Given the description of an element on the screen output the (x, y) to click on. 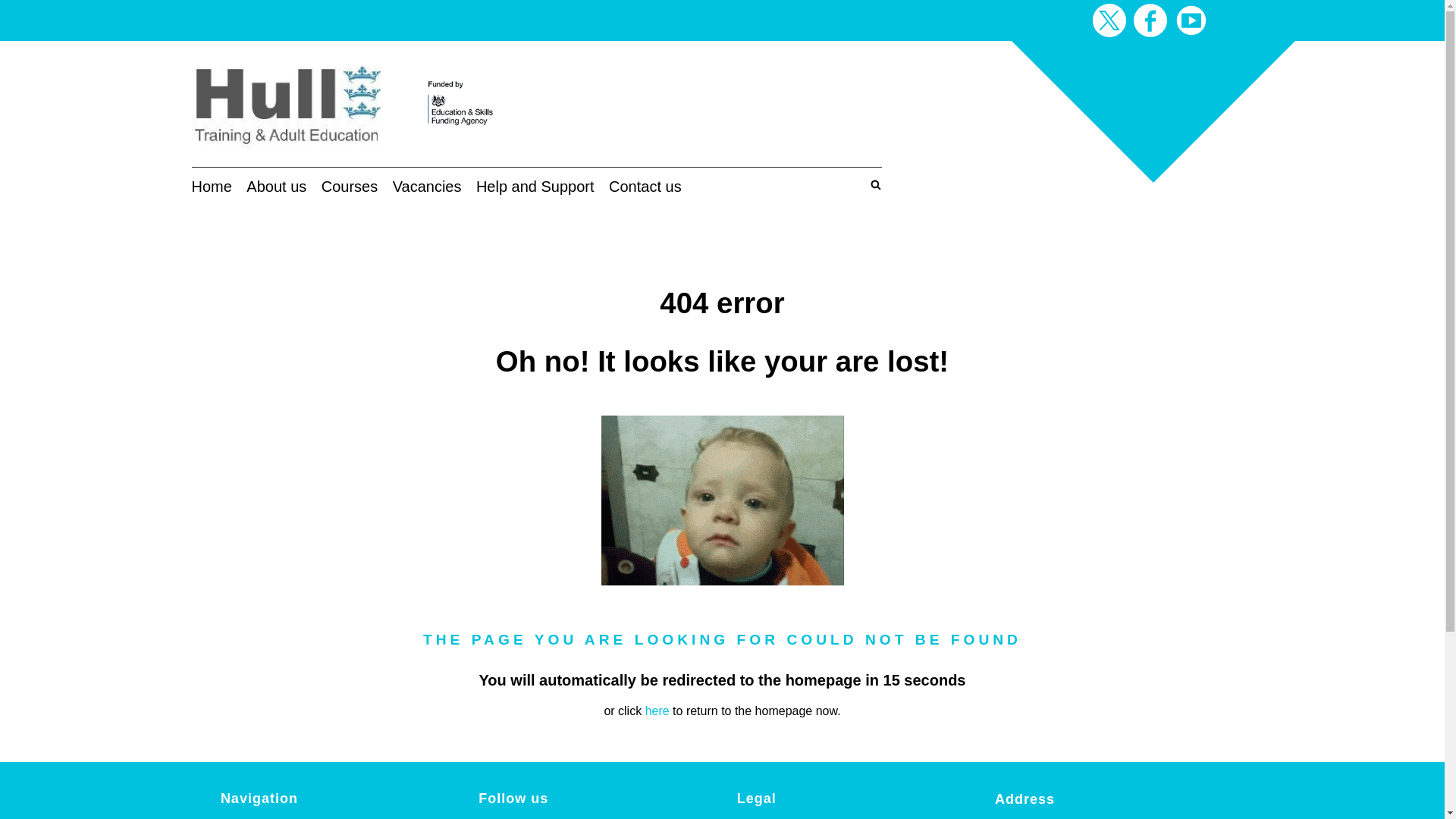
About us (275, 186)
Home (210, 186)
Help and Support (535, 186)
Vacancies (427, 186)
Courses (349, 186)
here (657, 710)
Contact us (644, 186)
